Given the description of an element on the screen output the (x, y) to click on. 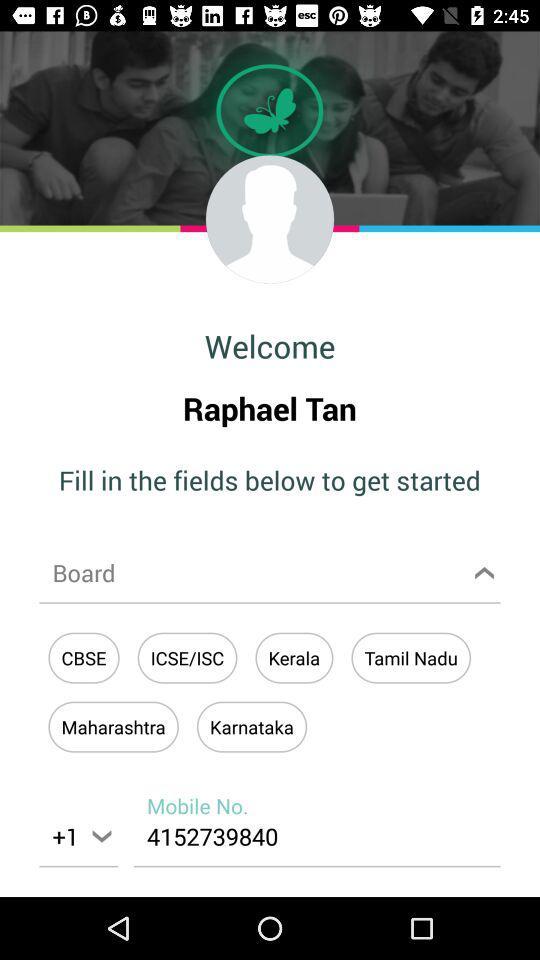
view profile picture (269, 219)
